Given the description of an element on the screen output the (x, y) to click on. 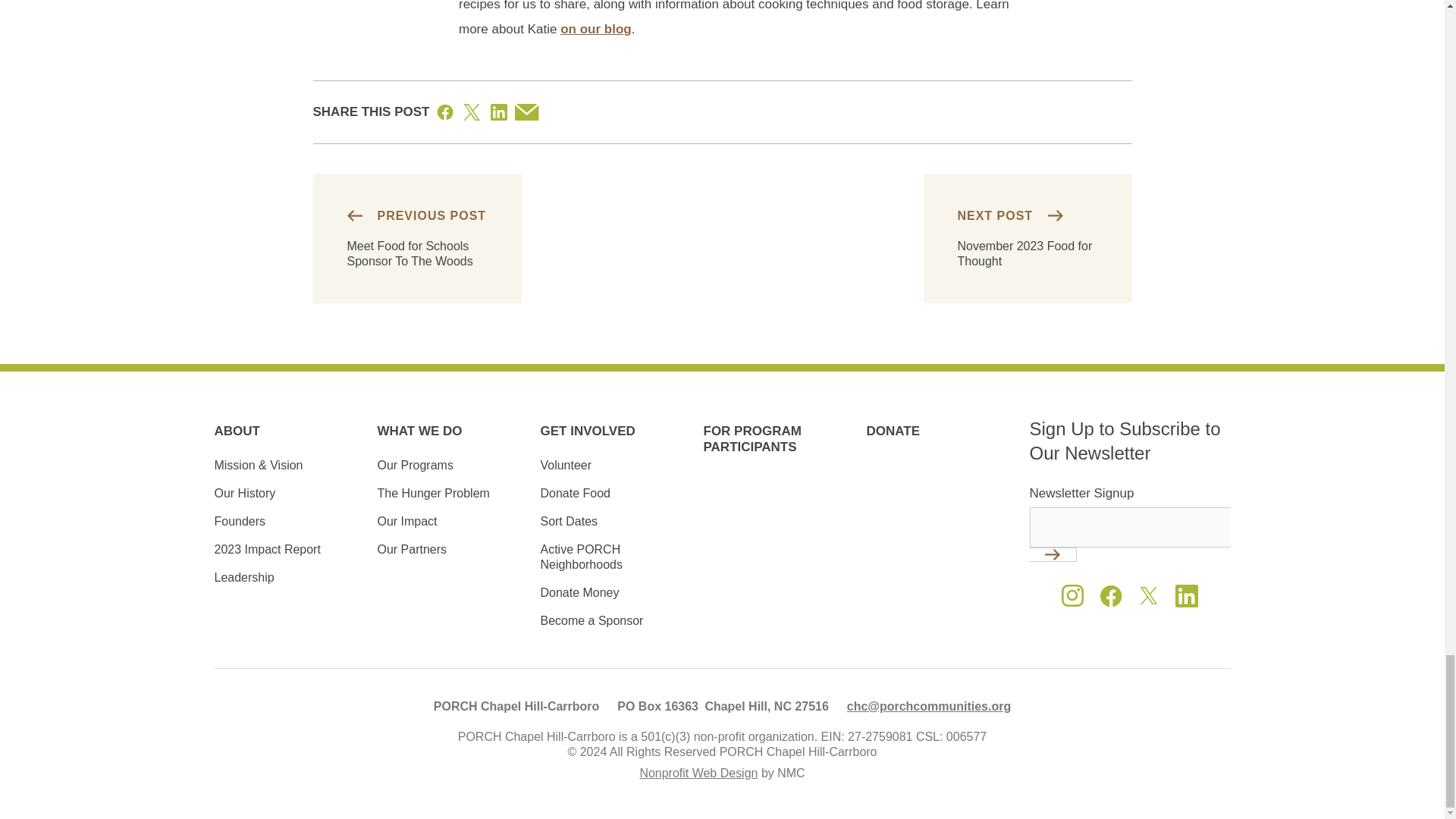
on our blog (595, 29)
